Given the description of an element on the screen output the (x, y) to click on. 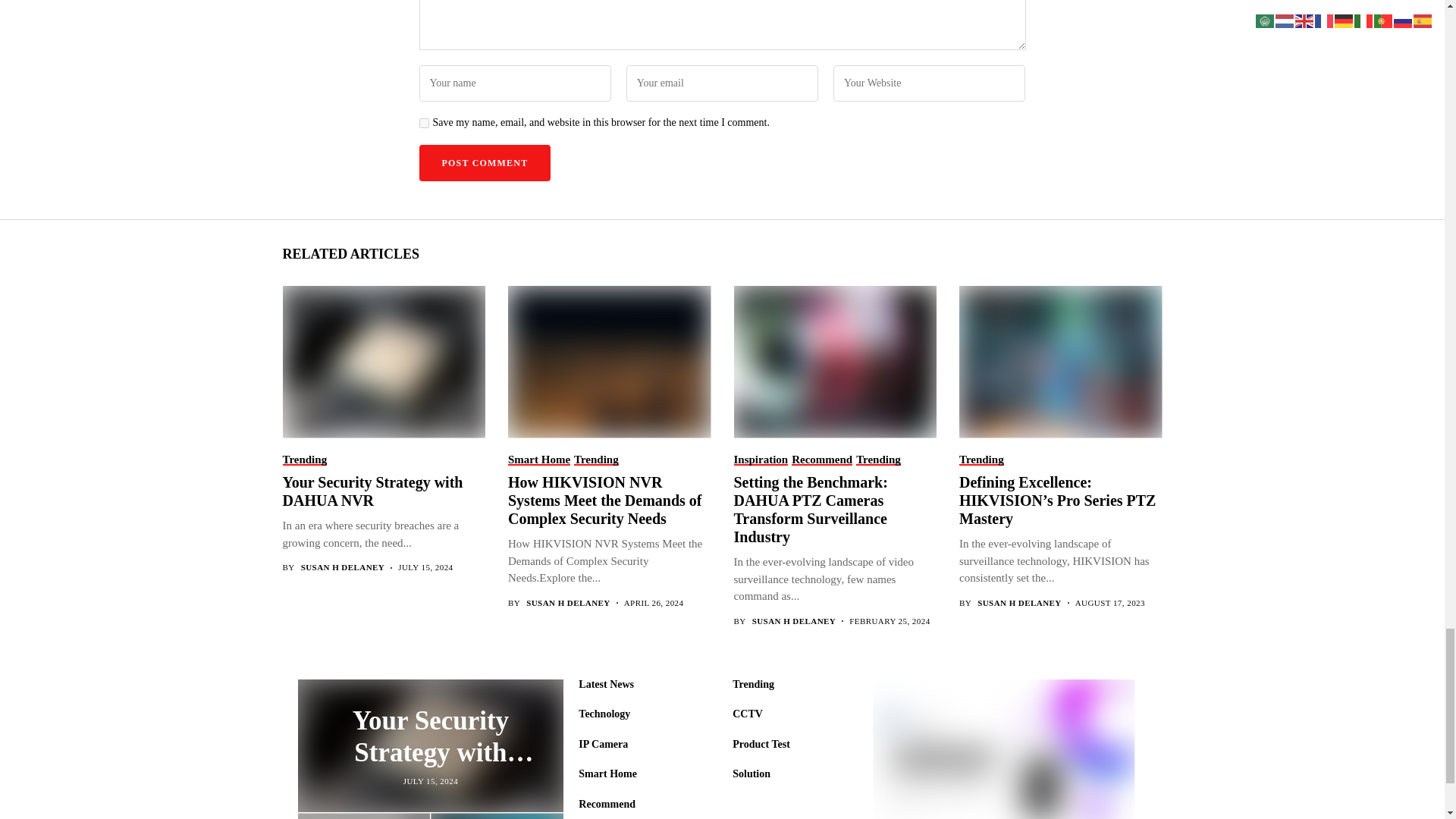
Your Security Strategy with DAHUA NVR (382, 361)
yes (423, 122)
Post Comment (484, 162)
Your Security Strategy with DAHUA NVR (429, 744)
